Given the description of an element on the screen output the (x, y) to click on. 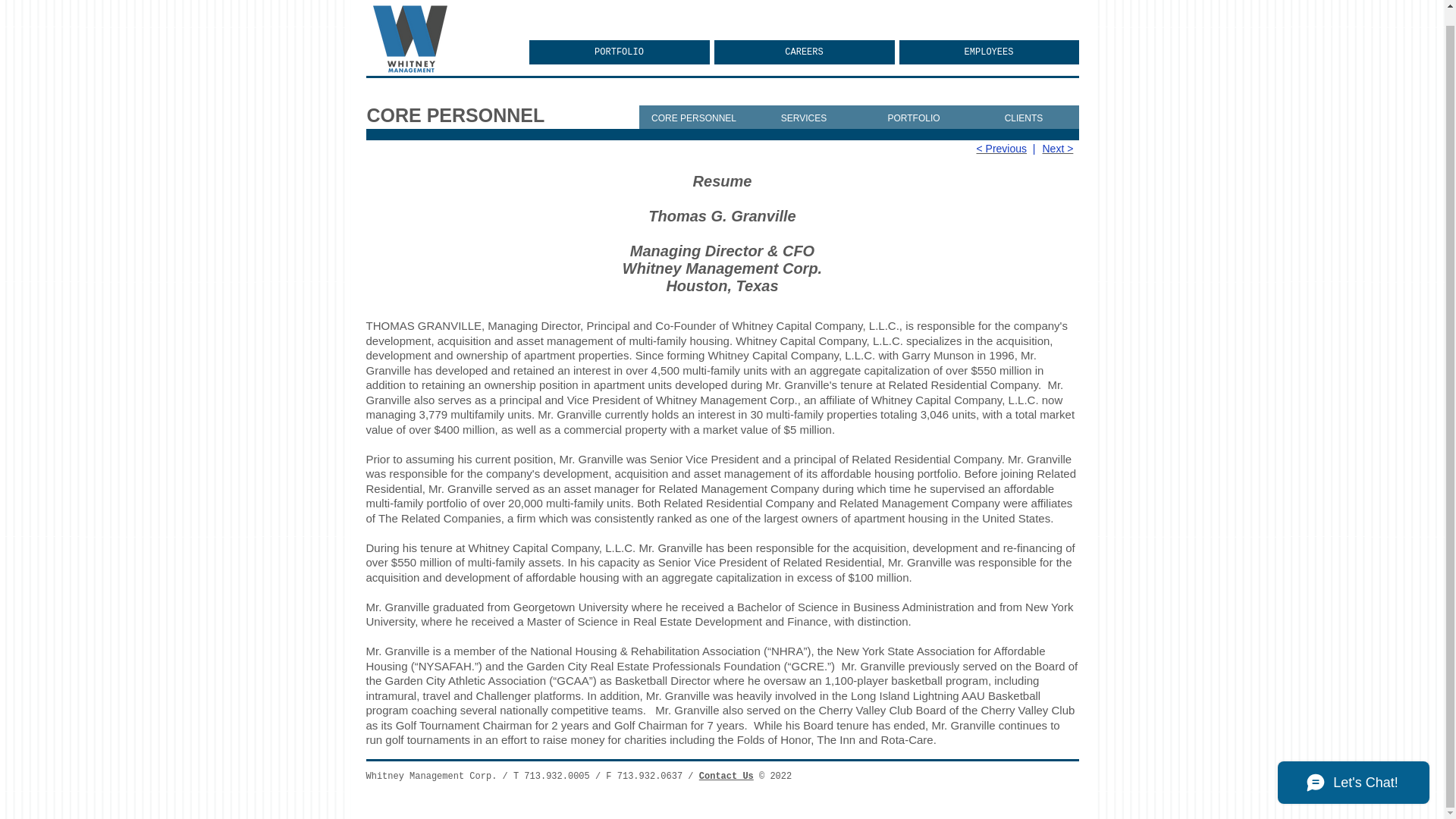
CLIENTS (1023, 118)
CAREERS (804, 52)
Contact Us (726, 775)
EMPLOYEES (988, 52)
WMC-new-logo-color.png (411, 46)
PORTFOLIO (619, 52)
CORE PERSONNEL (693, 118)
PORTFOLIO (913, 118)
SERVICES (804, 118)
